Given the description of an element on the screen output the (x, y) to click on. 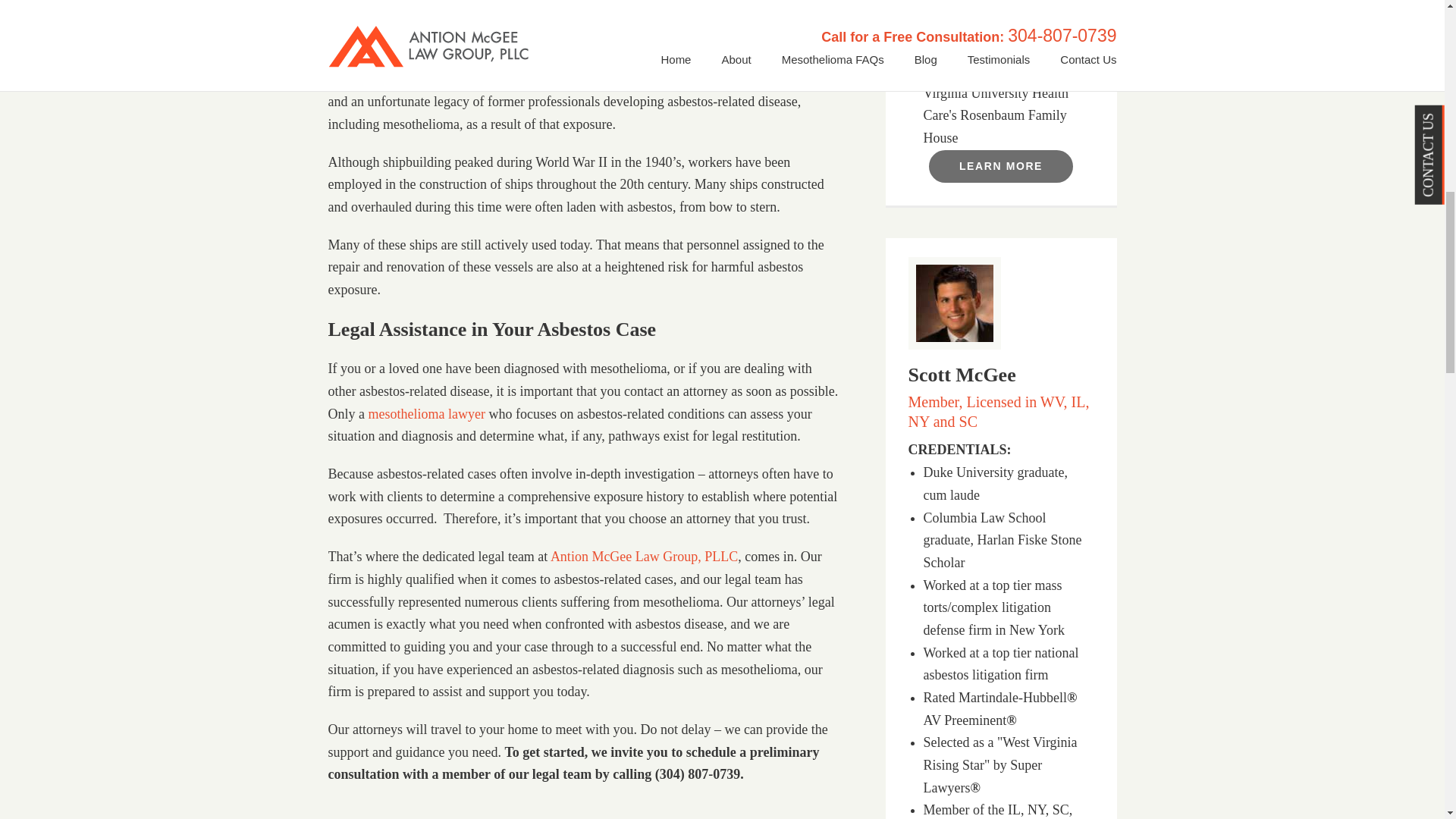
Antion McGee Law Group, PLLC (644, 556)
mesothelioma lawyer (426, 413)
LEARN MORE (1000, 165)
